Given the description of an element on the screen output the (x, y) to click on. 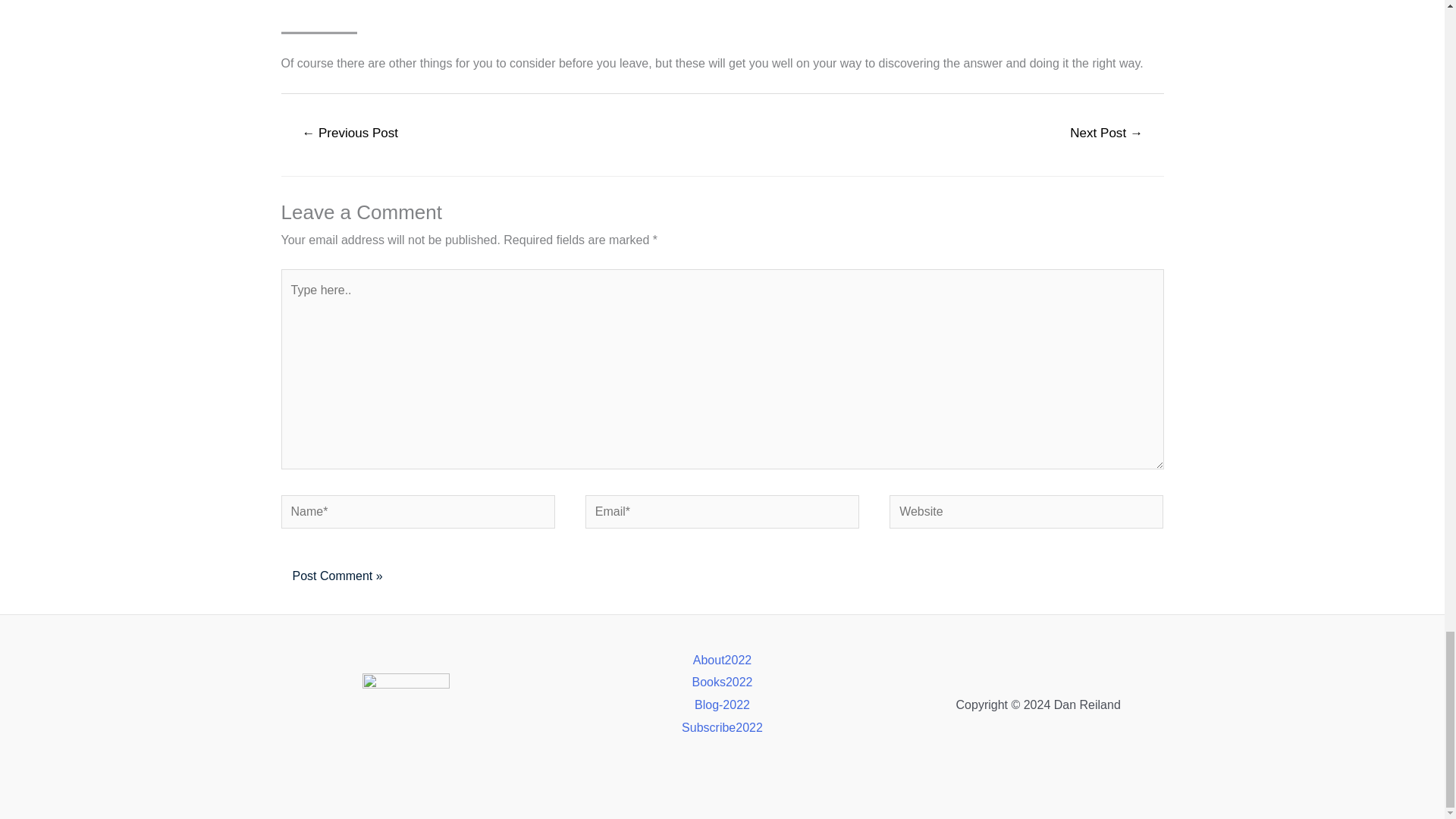
Books2022 (721, 681)
Blog-2022 (721, 704)
About2022 (722, 660)
Subscribe2022 (721, 727)
